Given the description of an element on the screen output the (x, y) to click on. 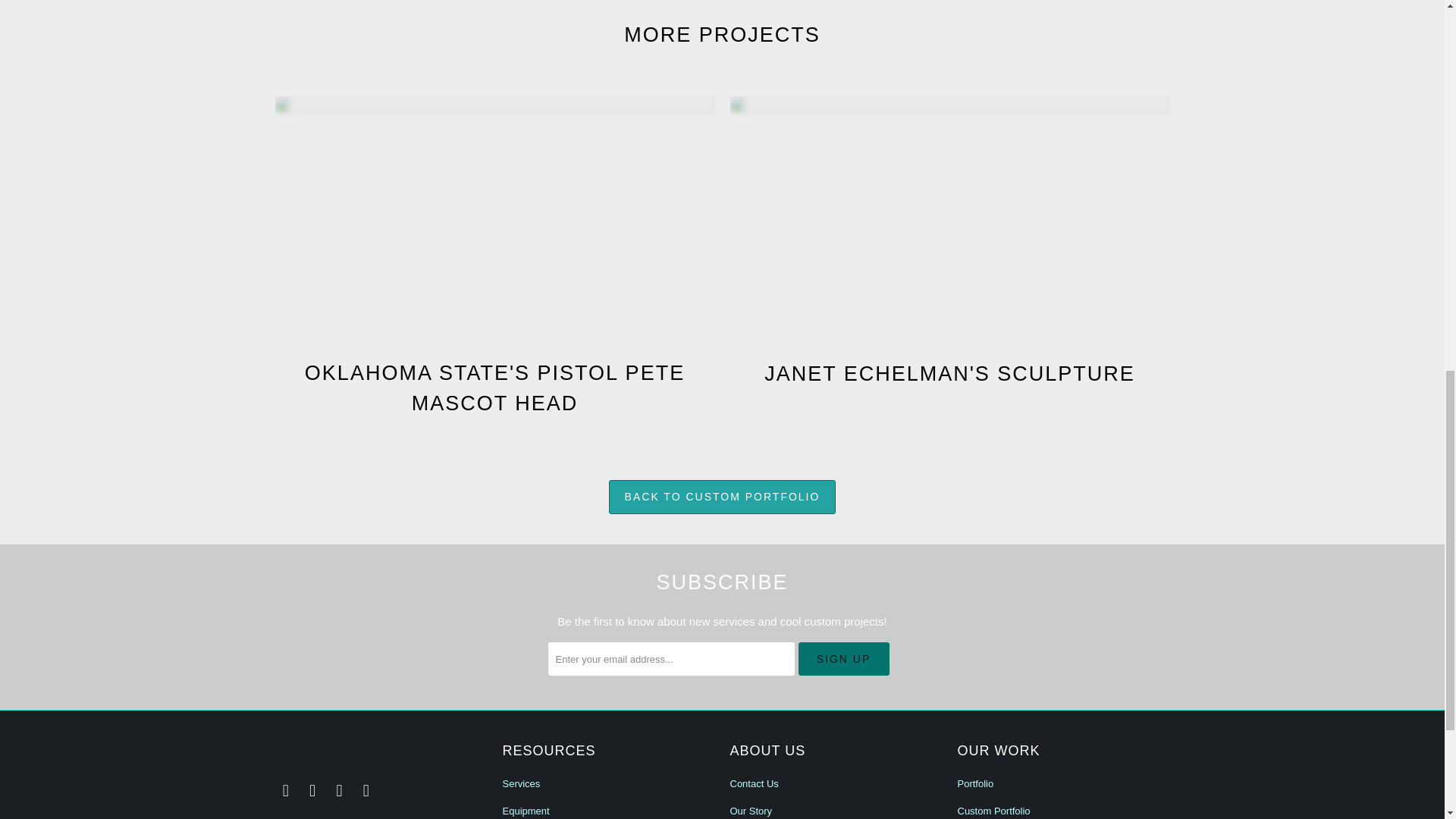
Common Fibers on YouTube (366, 791)
Common Fibers on TikTok (339, 791)
Common Fibers on Facebook (286, 791)
Common Fibers on Instagram (312, 791)
Sign Up (842, 658)
